Given the description of an element on the screen output the (x, y) to click on. 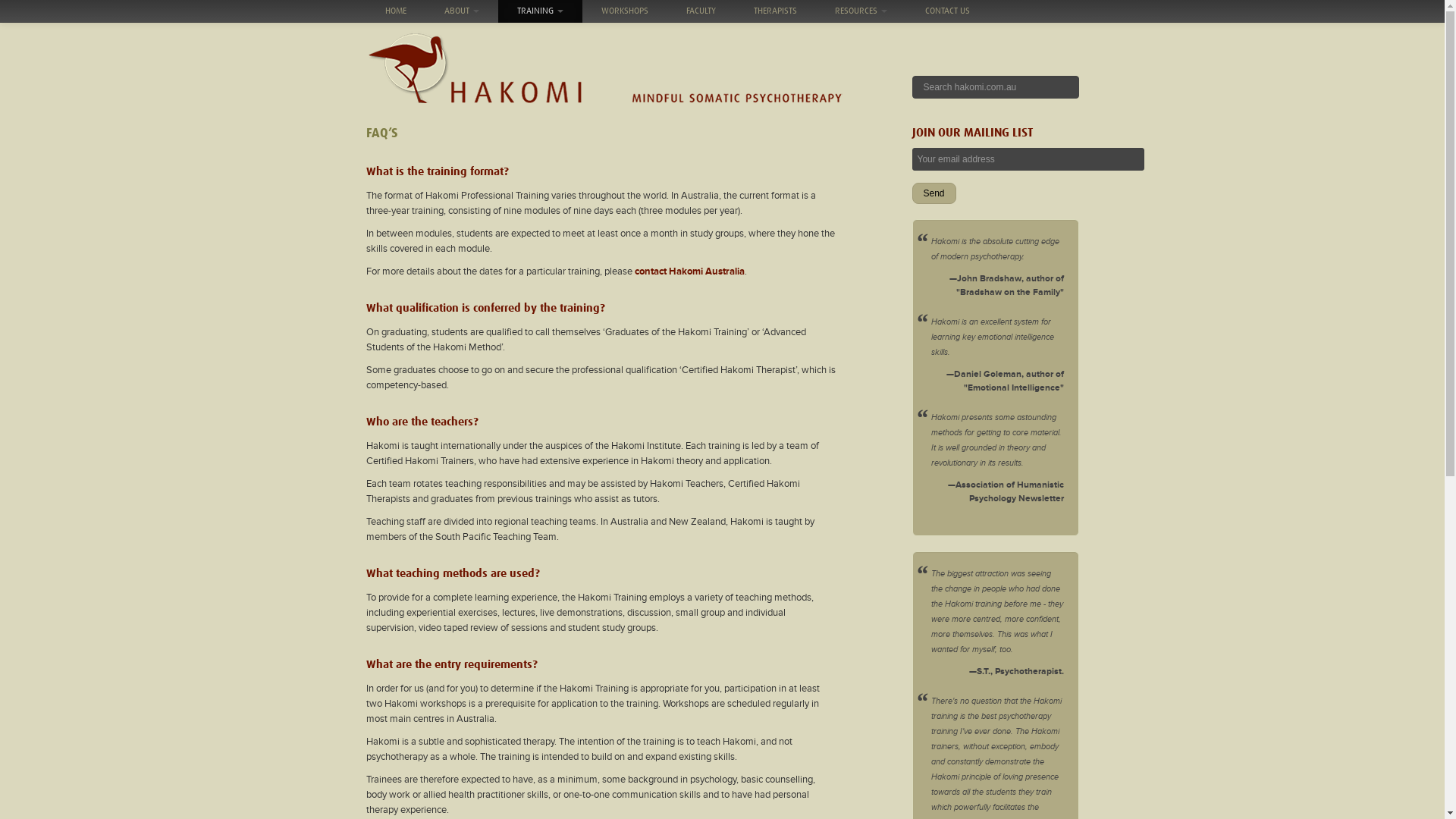
HOME Element type: text (394, 11)
TRAINING Element type: text (539, 11)
Send Element type: text (933, 192)
THERAPISTS Element type: text (774, 11)
WORKSHOPS Element type: text (624, 11)
contact Hakomi Australia Element type: text (688, 271)
FACULTY Element type: text (700, 11)
RESOURCES Element type: text (860, 11)
CONTACT US Element type: text (946, 11)
ABOUT Element type: text (460, 11)
